Given the description of an element on the screen output the (x, y) to click on. 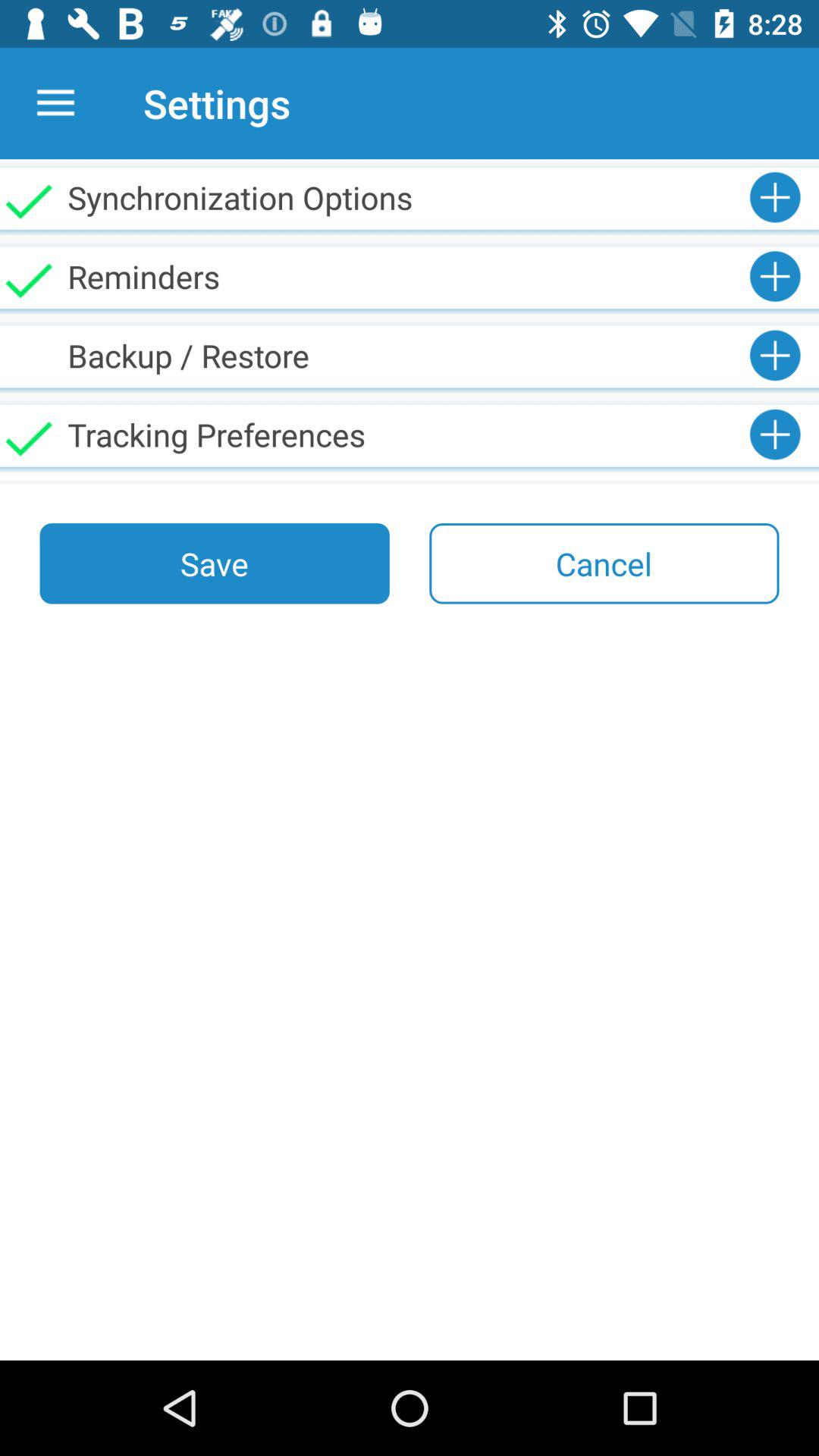
flip until cancel (604, 563)
